Given the description of an element on the screen output the (x, y) to click on. 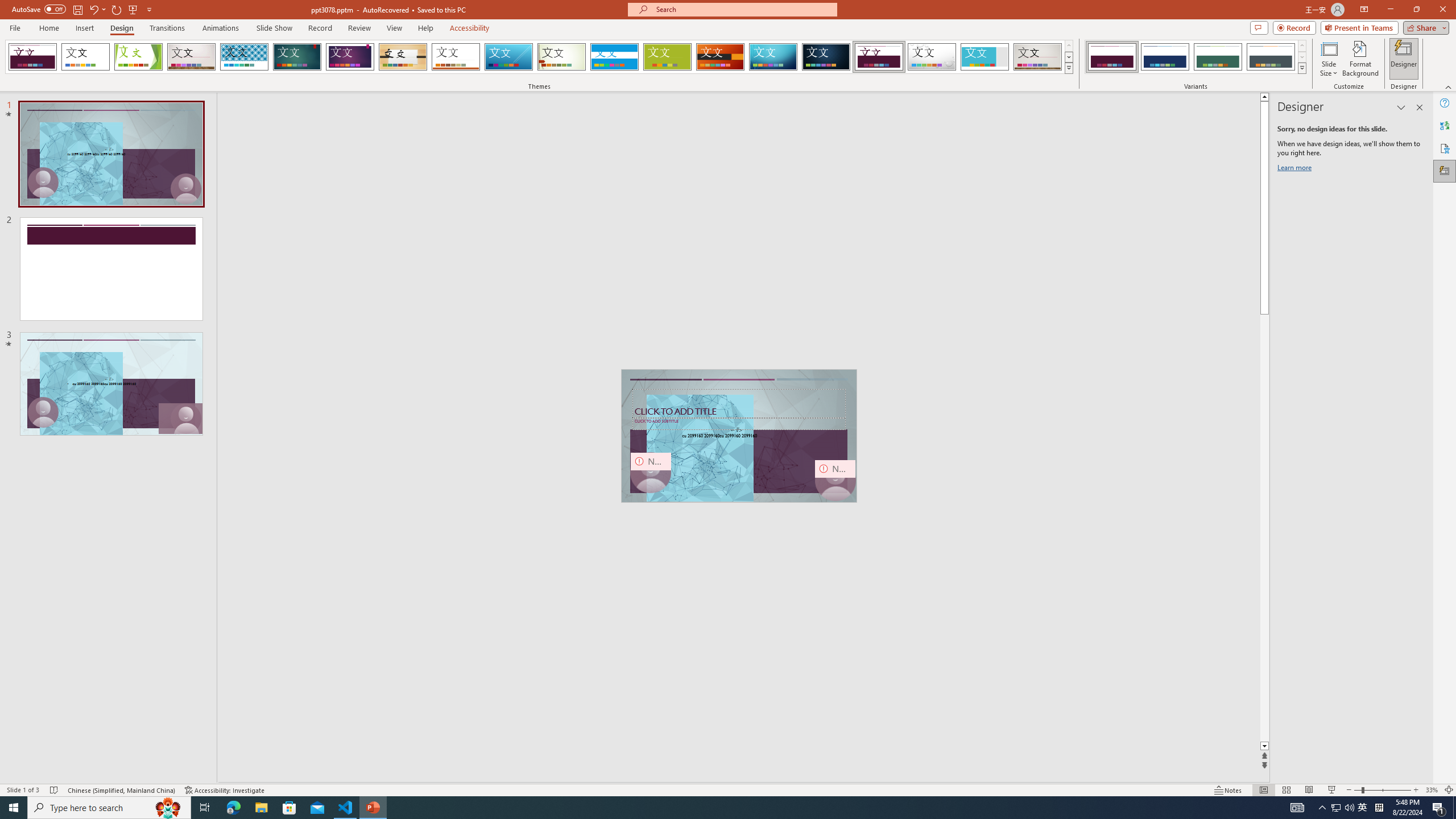
Dividend Variant 2 (1164, 56)
Banded (614, 56)
Slide Sorter (1286, 790)
Row Down (1301, 56)
Zoom to Fit  (1449, 790)
Row up (1301, 45)
Circuit (772, 56)
